Given the description of an element on the screen output the (x, y) to click on. 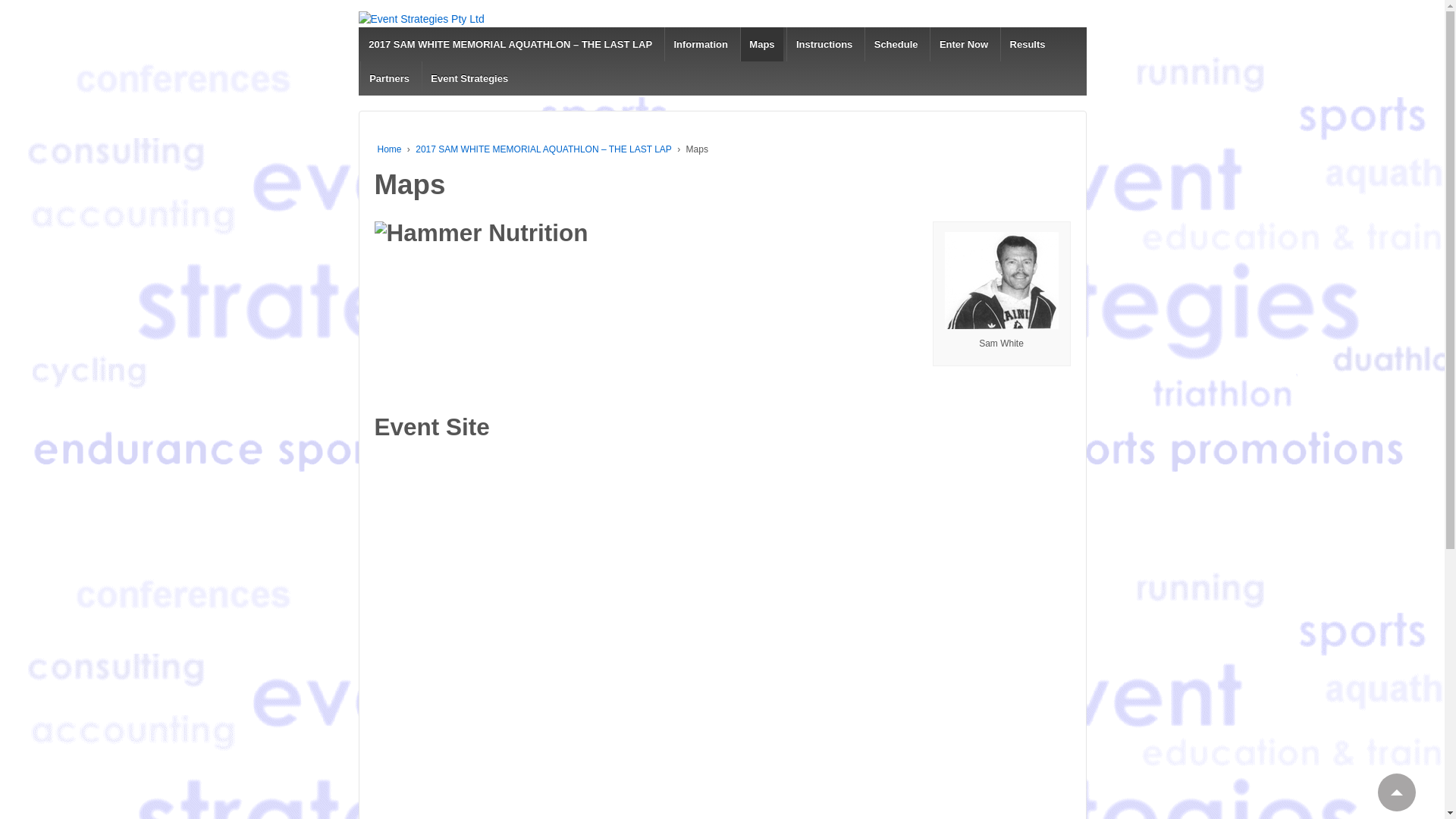
Results Element type: text (1027, 44)
Instructions Element type: text (823, 44)
Home Element type: text (389, 149)
Sam White Element type: hover (1001, 280)
Enter Now Element type: text (963, 44)
Maps Element type: text (762, 44)
Information Element type: text (700, 44)
Schedule Element type: text (895, 44)
Partners Element type: text (388, 78)
Event Strategies Element type: text (469, 78)
